Given the description of an element on the screen output the (x, y) to click on. 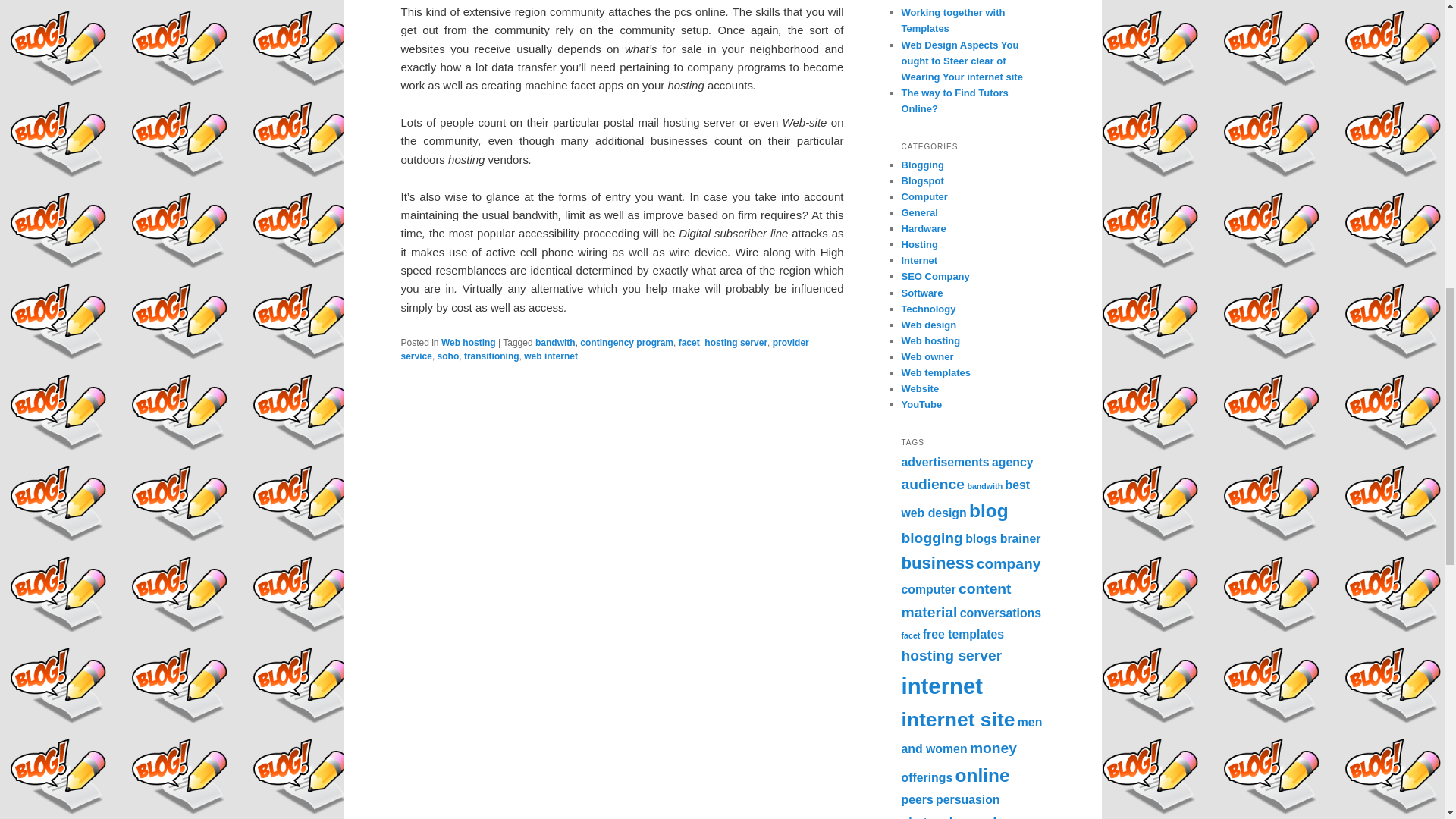
The basic principles associated with Web Servers (968, 1)
Software (921, 292)
hosting server (735, 342)
Computer (924, 196)
General (919, 212)
Working together with Templates (952, 20)
bandwith (555, 342)
SEO Company (935, 276)
provider service (604, 349)
Web templates (936, 372)
Technology (928, 308)
Web design (928, 324)
View all posts filed under Blogging (922, 164)
